Given the description of an element on the screen output the (x, y) to click on. 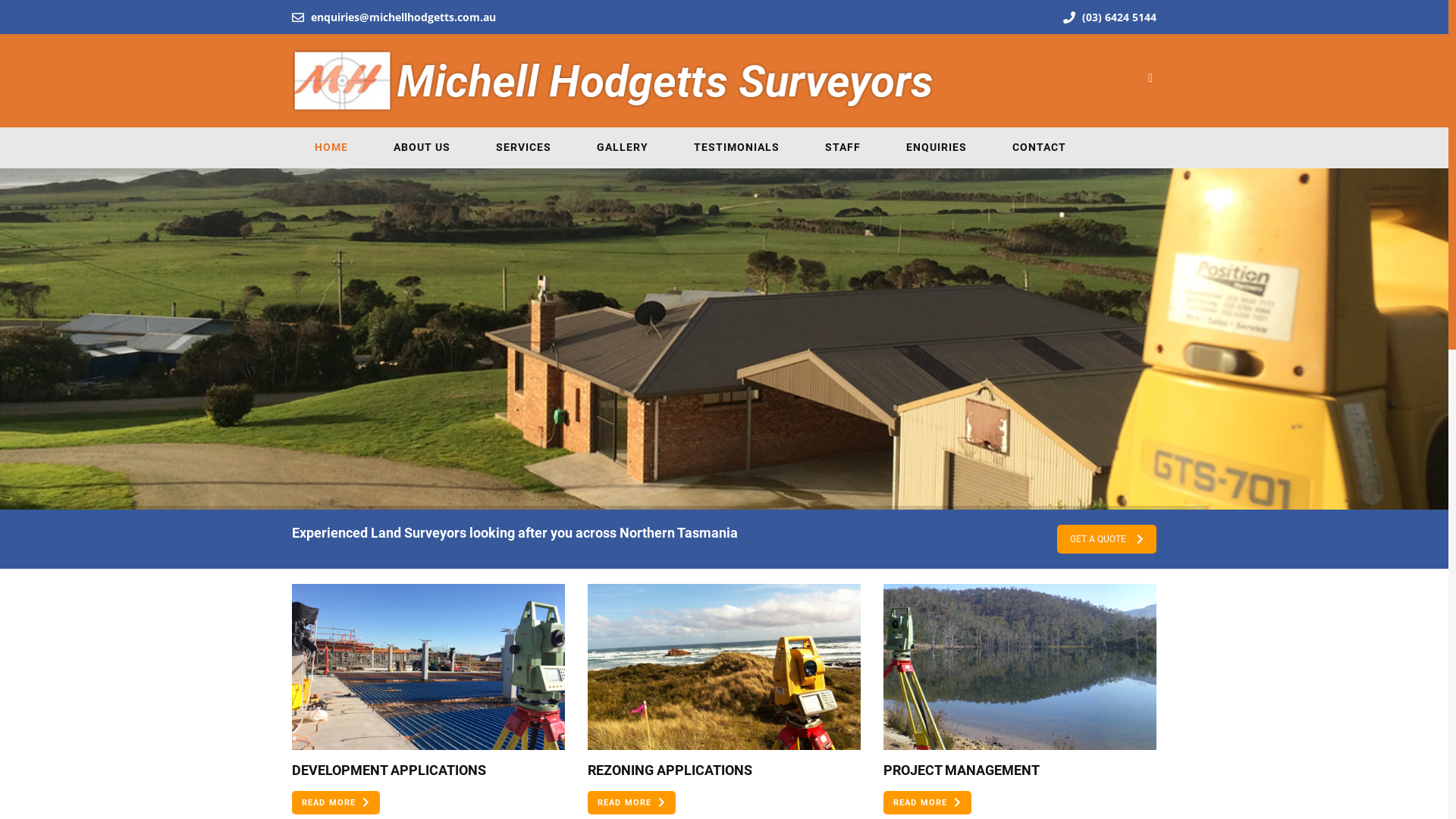
CONTACT Element type: text (1038, 147)
ABOUT US Element type: text (421, 147)
SERVICES Element type: text (523, 147)
TESTIMONIALS Element type: text (736, 147)
READ MORE Element type: text (927, 802)
102 Element type: hover (723, 666)
STAFF Element type: text (842, 147)
GALLERY Element type: text (622, 147)
READ MORE Element type: text (335, 802)
100 Element type: hover (1019, 666)
GET A QUOTE Element type: text (1106, 538)
HOME Element type: text (330, 147)
103 Element type: hover (427, 666)
READ MORE Element type: text (631, 802)
ENQUIRIES Element type: text (936, 147)
